Given the description of an element on the screen output the (x, y) to click on. 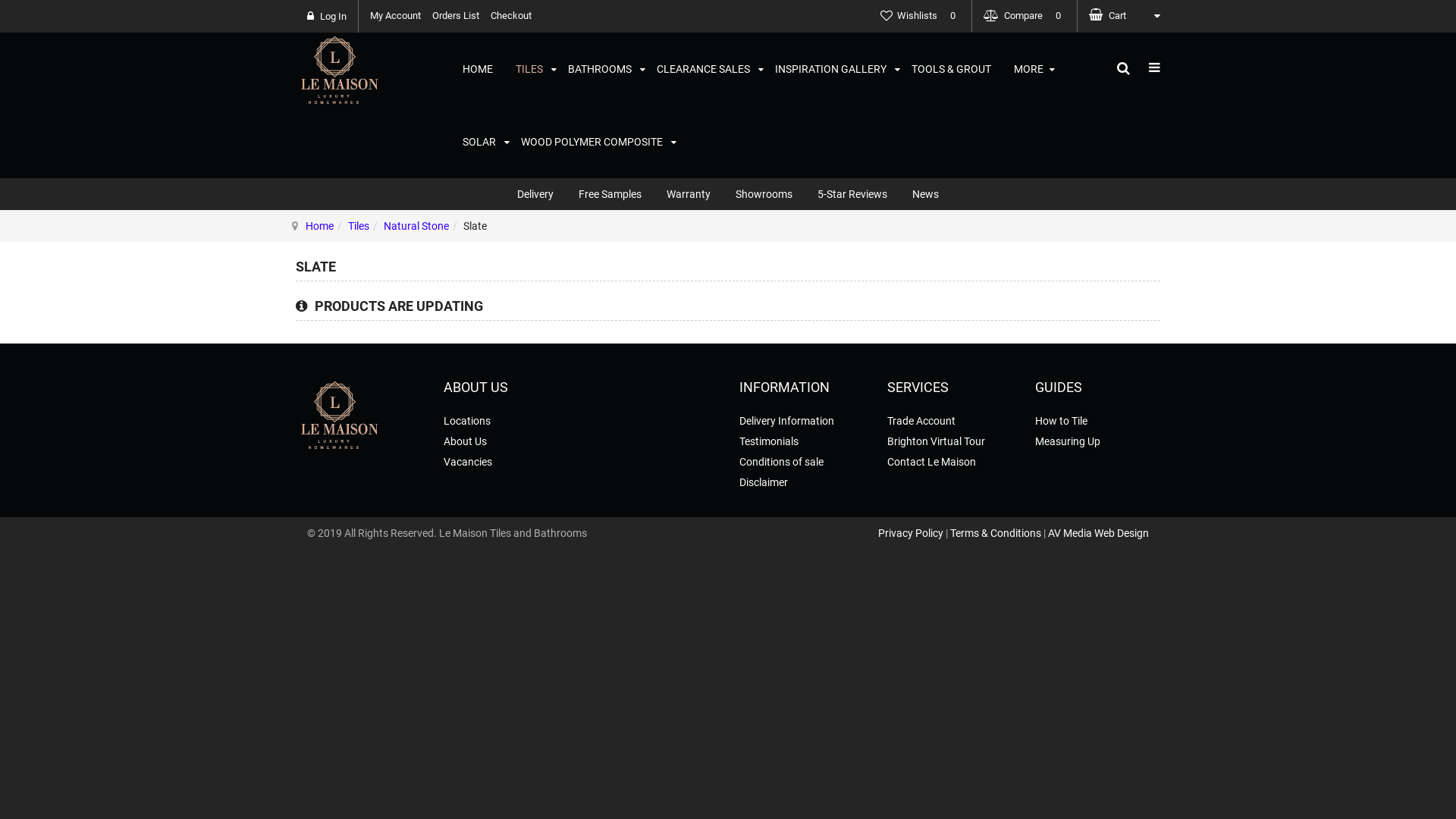
My Account Element type: text (395, 15)
You are here:  Element type: hover (294, 225)
SOLAR Element type: text (480, 141)
Wishlists 0 Element type: text (920, 15)
Eurotiles & Bathrooms: Floor & Wall Tiles For Your Home Element type: hover (337, 413)
Trade Account Element type: text (921, 420)
Warranty Element type: text (688, 194)
Tiles Element type: text (358, 225)
INSPIRATION GALLERY Element type: text (831, 68)
Conditions of sale Element type: text (781, 461)
Orders List Element type: text (455, 15)
Testimonials Element type: text (768, 441)
News Element type: text (925, 194)
CLEARANCE SALES Element type: text (704, 68)
BATHROOMS Element type: text (600, 68)
5-Star Reviews Element type: text (852, 194)
Privacy Policy Element type: text (910, 533)
Eurotiles & Bathrooms: Floor & Wall Tiles For Your Home Element type: hover (337, 68)
Compare 0 Element type: text (1024, 15)
Free Samples Element type: text (609, 194)
HOME Element type: text (477, 68)
WOOD POLYMER COMPOSITE Element type: text (592, 141)
Checkout Element type: text (510, 15)
TOOLS & GROUT Element type: text (951, 68)
Delivery Information Element type: text (786, 420)
How to Tile Element type: text (1061, 420)
Home Element type: text (319, 225)
Measuring Up Element type: text (1067, 441)
TILES Element type: text (530, 68)
Contact Le Maison Element type: text (931, 461)
About Us Element type: text (464, 441)
Delivery Element type: text (535, 194)
Natural Stone Element type: text (415, 225)
Brighton Virtual Tour Element type: text (936, 441)
Vacancies Element type: text (467, 461)
Terms & Conditions Element type: text (995, 533)
Locations Element type: text (466, 420)
AV Media Web Design Element type: text (1098, 533)
Showrooms Element type: text (763, 194)
Disclaimer Element type: text (763, 482)
